Given the description of an element on the screen output the (x, y) to click on. 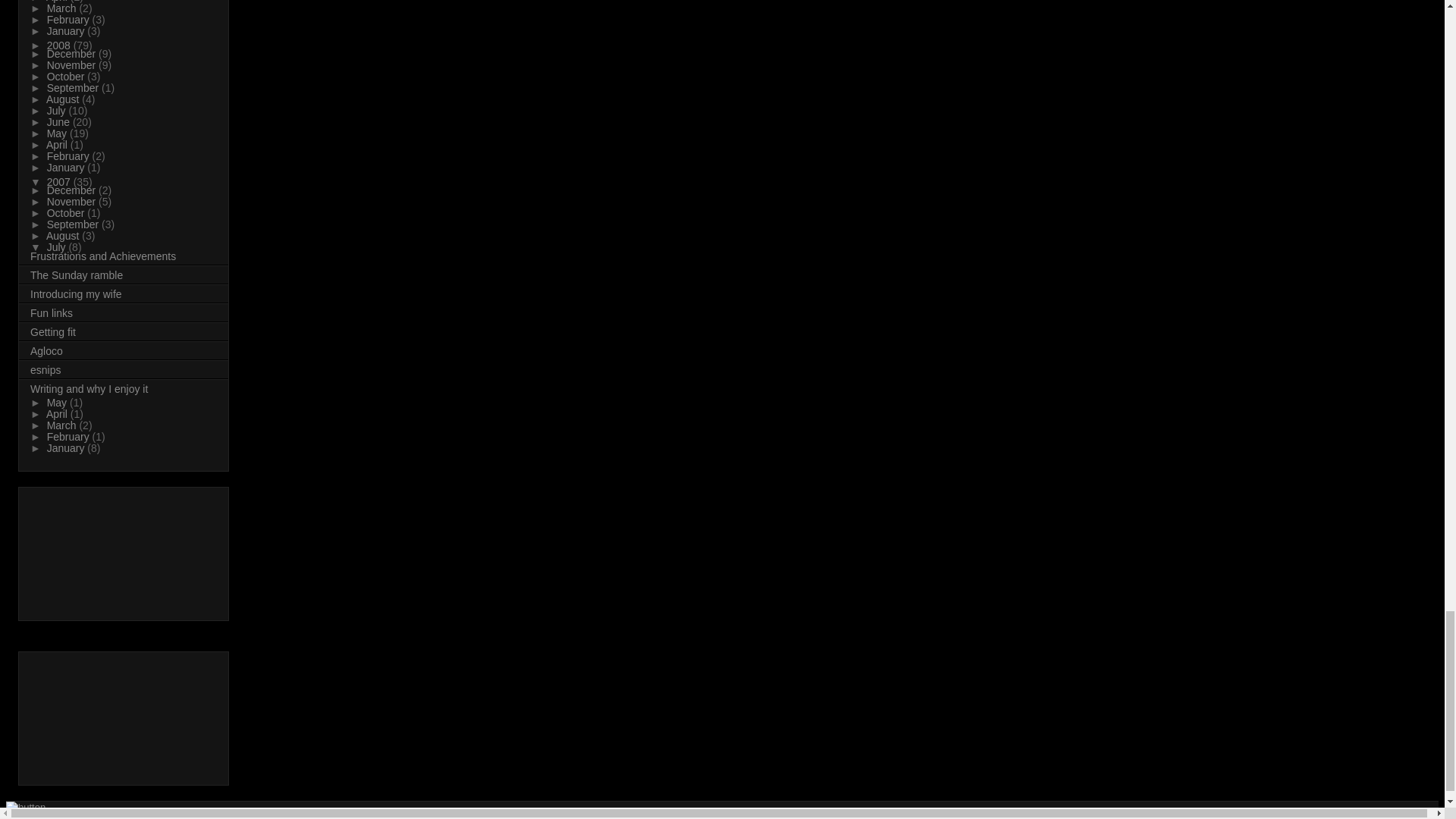
Advertisement (98, 549)
